Given the description of an element on the screen output the (x, y) to click on. 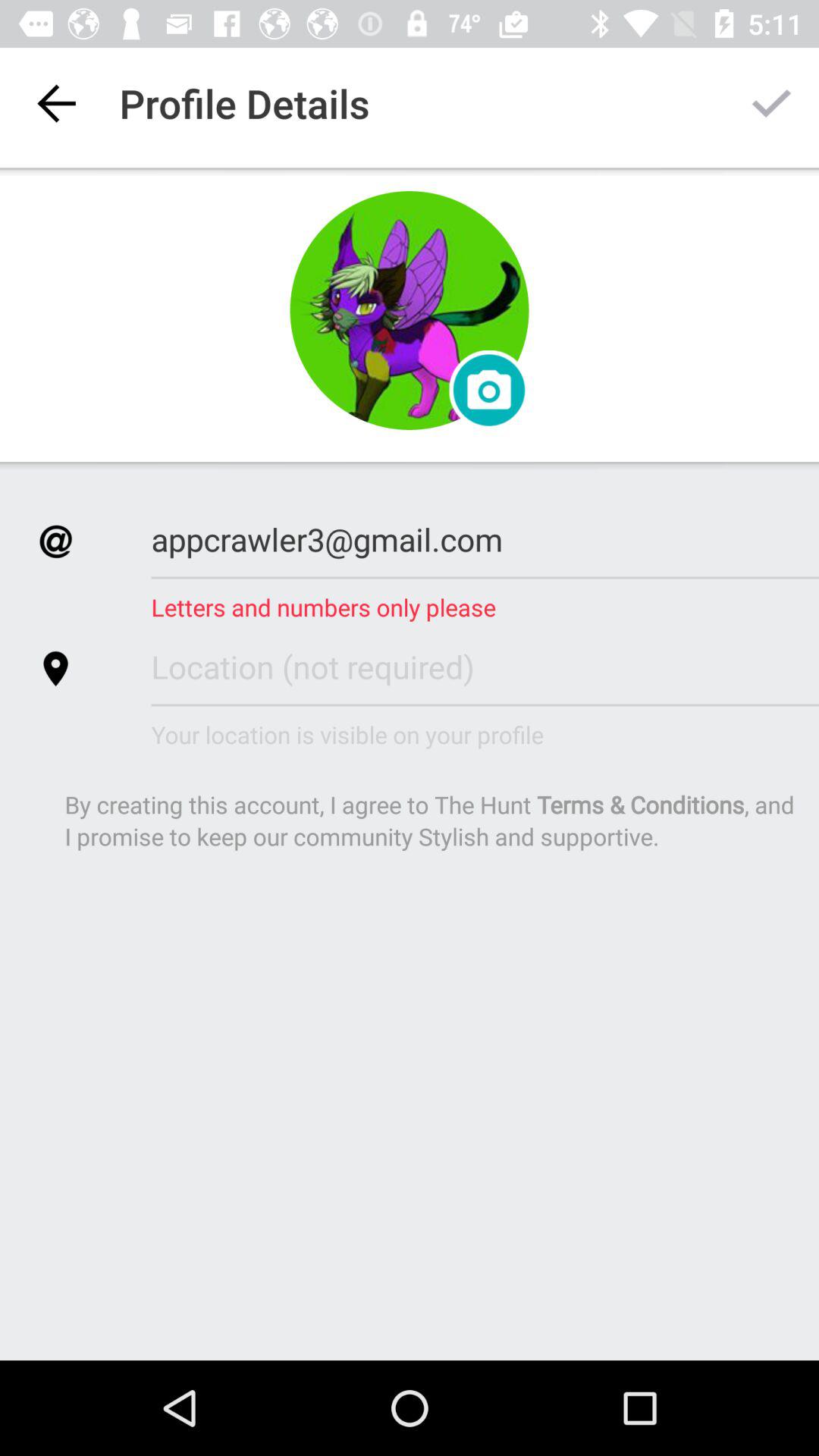
upload photo for new avatar (488, 389)
